Given the description of an element on the screen output the (x, y) to click on. 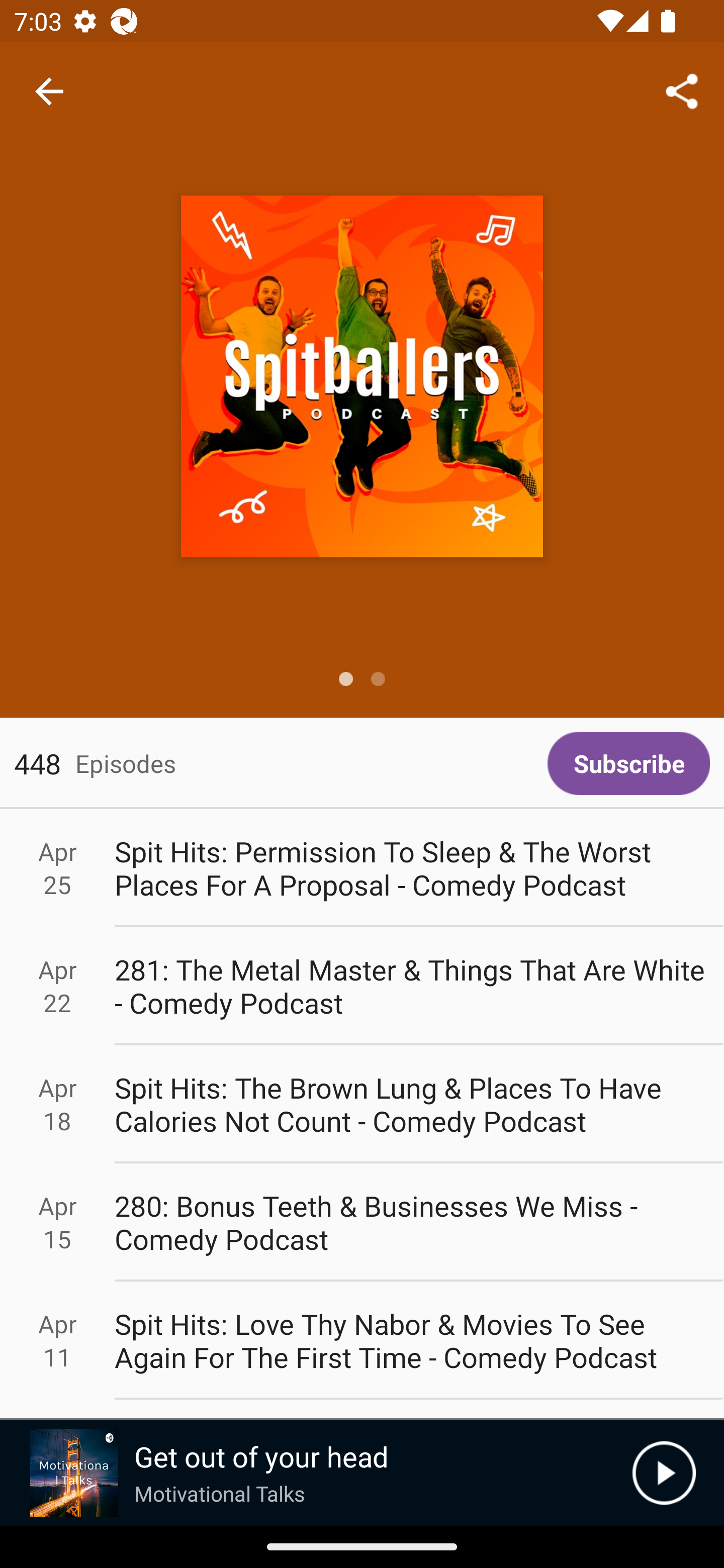
Navigate up (49, 91)
Share... (681, 90)
Subscribe (628, 763)
Picture Get out of your head Motivational Talks (316, 1472)
Play (663, 1472)
